Given the description of an element on the screen output the (x, y) to click on. 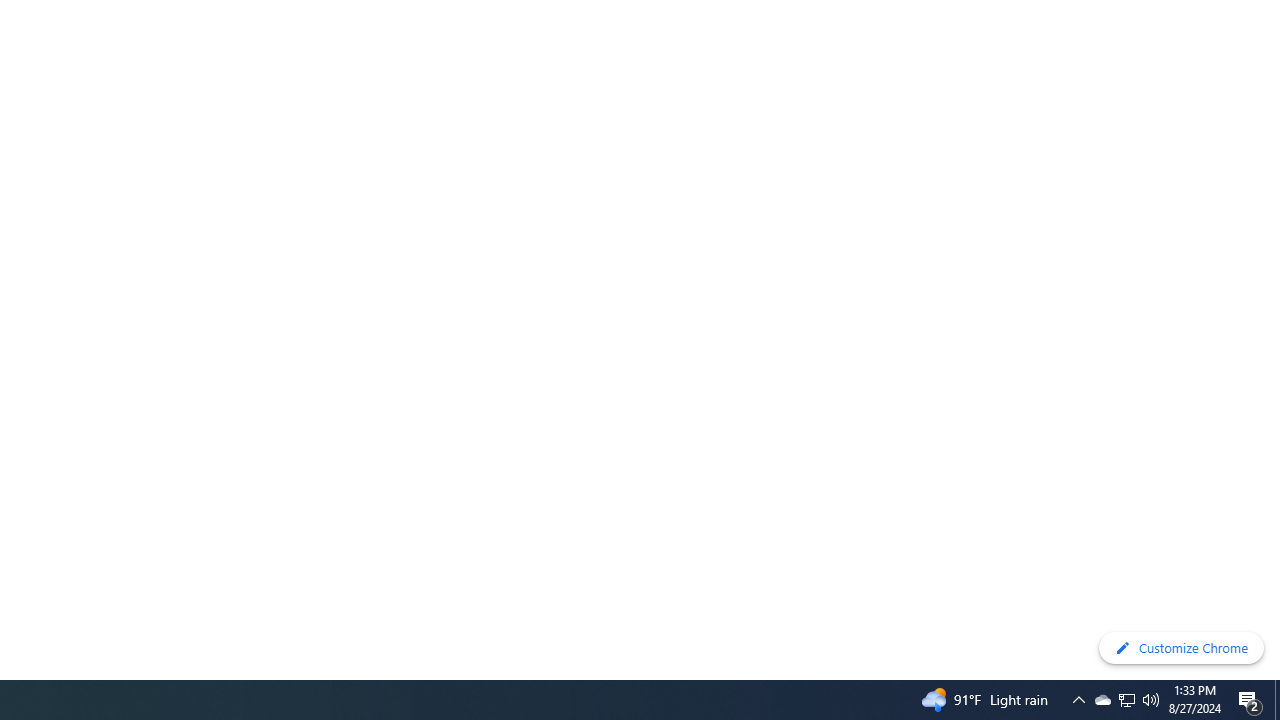
Customize Chrome (1181, 647)
